Given the description of an element on the screen output the (x, y) to click on. 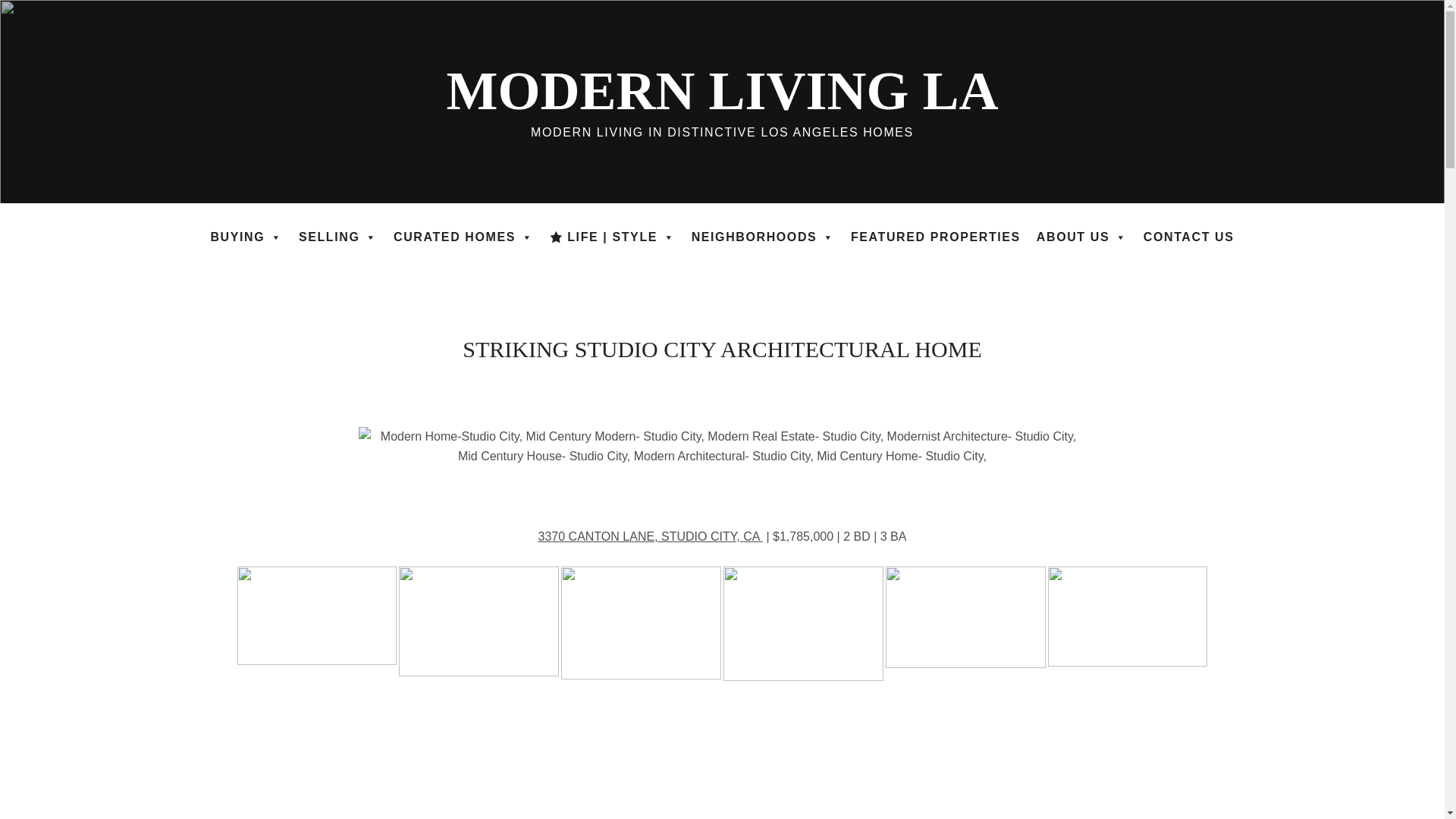
CURATED HOMES (463, 236)
BUYING (245, 236)
SELLING (338, 236)
MODERN LIVING LA (721, 90)
